Given the description of an element on the screen output the (x, y) to click on. 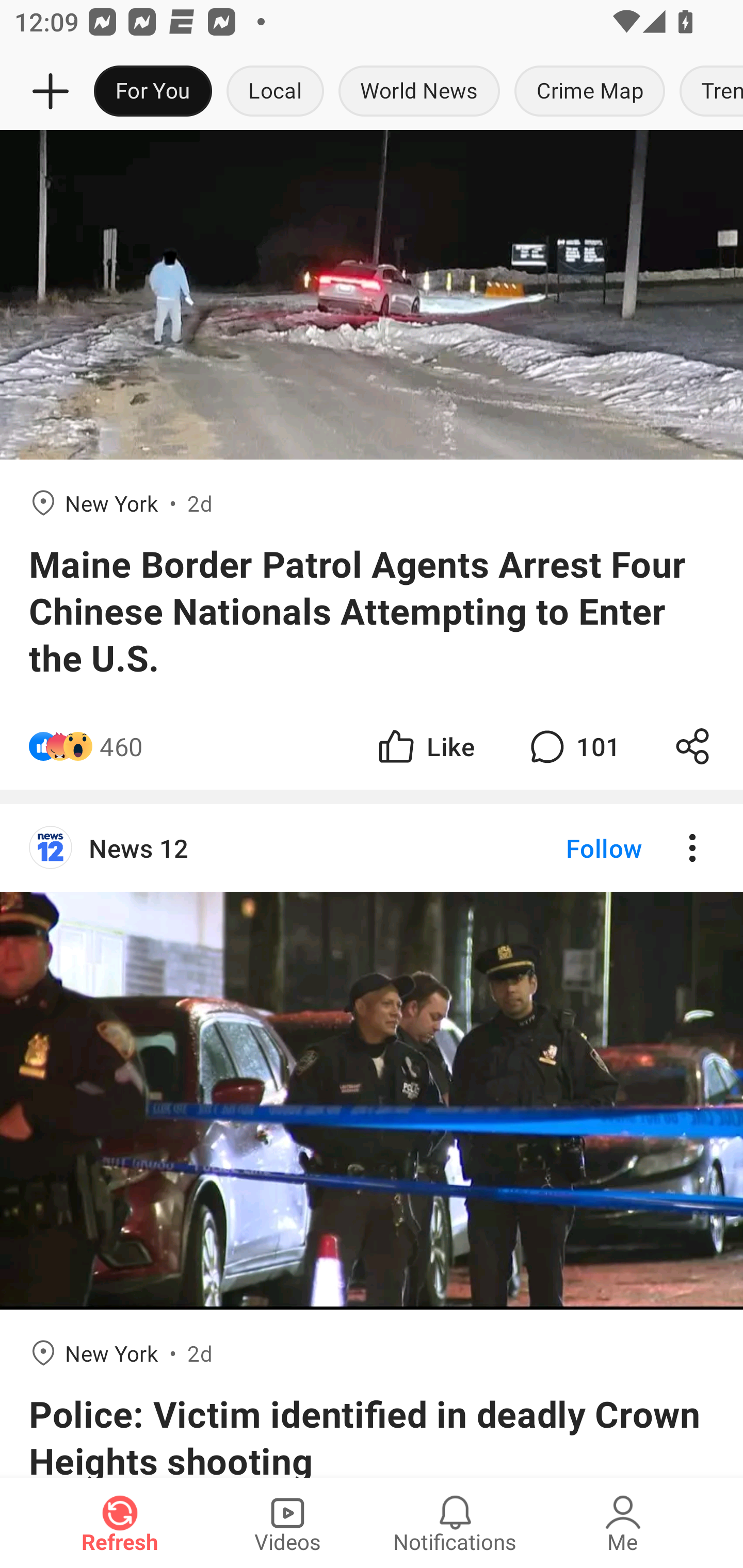
For You (152, 91)
Local (275, 91)
World News (419, 91)
Crime Map (589, 91)
460 (121, 746)
Like (425, 746)
101 (572, 746)
News 12 Follow (371, 848)
Follow (569, 848)
Videos (287, 1522)
Notifications (455, 1522)
Me (622, 1522)
